Given the description of an element on the screen output the (x, y) to click on. 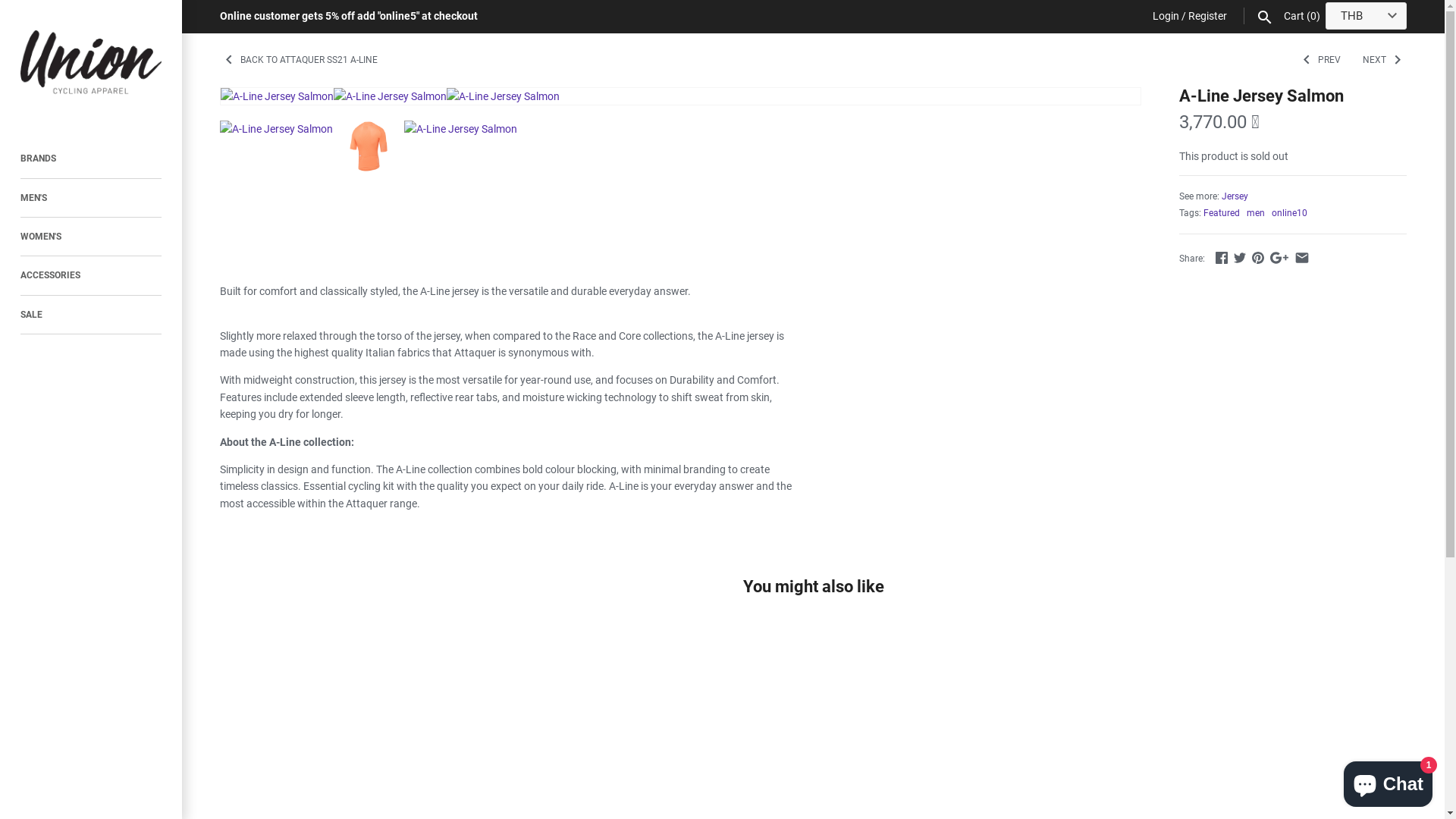
NEXT RIGHT Element type: text (1384, 58)
A-Line Jersey Salmon Element type: hover (389, 96)
men Element type: text (1255, 212)
ACCESSORIES Element type: text (90, 275)
Search Element type: text (1264, 15)
Login Element type: text (1165, 15)
Shopify online store chat Element type: hover (1388, 780)
Jersey Element type: text (1234, 196)
LEFT BACK TO ATTAQUER SS21 A-LINE Element type: text (298, 58)
Email Element type: text (1301, 257)
A-Line Jersey Salmon Element type: hover (276, 96)
Pinterest Element type: text (1258, 257)
Union Cycling Apparel Element type: hover (91, 61)
Facebook Element type: text (1221, 257)
BRANDS Element type: text (90, 158)
SALE Element type: text (90, 314)
LEFT PREV Element type: text (1320, 58)
MEN'S Element type: text (90, 197)
Cart (0) Element type: text (1302, 15)
online10 Element type: text (1289, 212)
WOMEN'S Element type: text (90, 236)
GooglePlus Element type: text (1279, 257)
Register Element type: text (1207, 15)
A-Line Jersey Salmon Element type: hover (502, 96)
Twitter Element type: text (1239, 257)
Featured Element type: text (1221, 212)
